Given the description of an element on the screen output the (x, y) to click on. 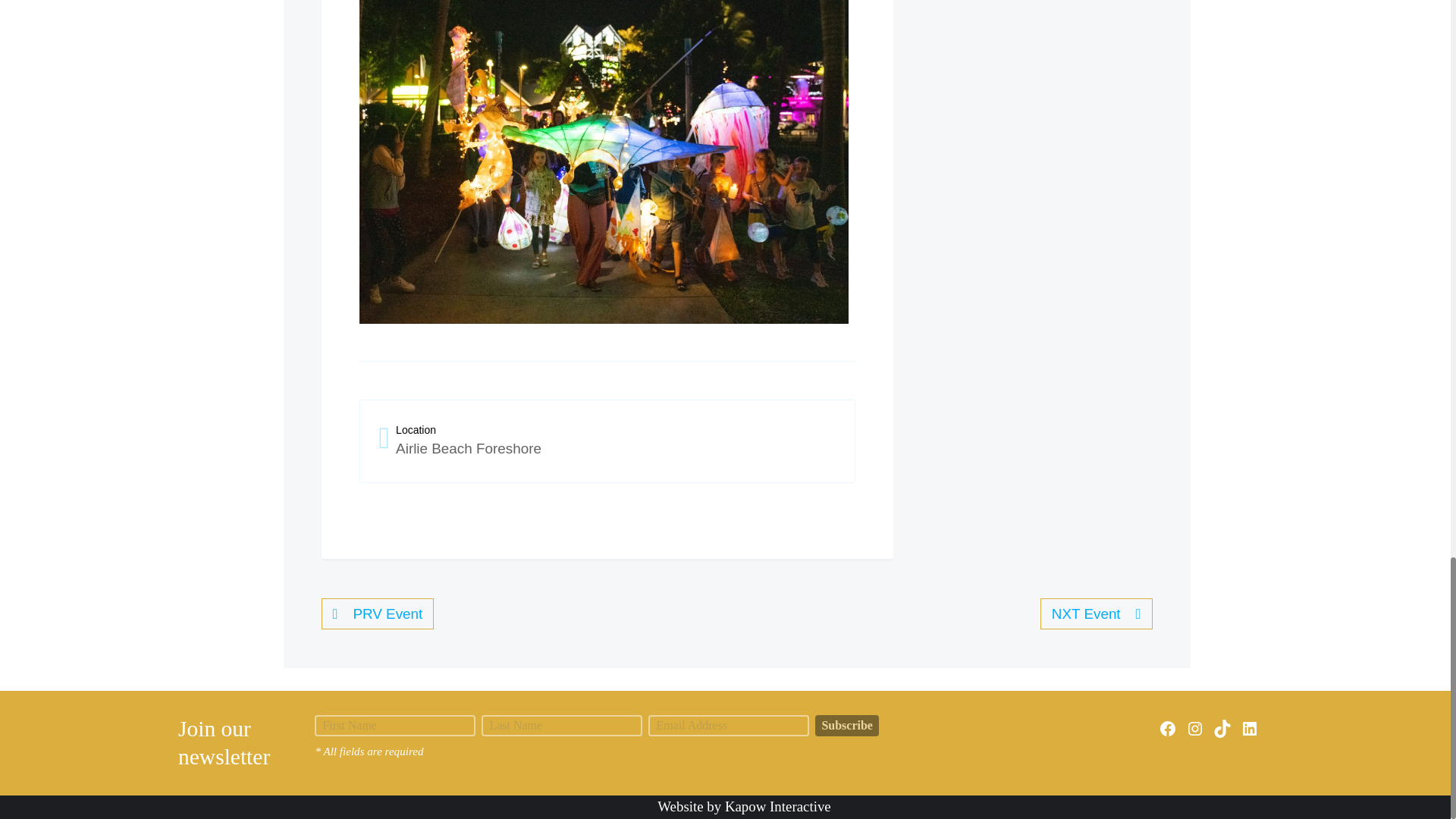
Subscribe (847, 725)
